Given the description of an element on the screen output the (x, y) to click on. 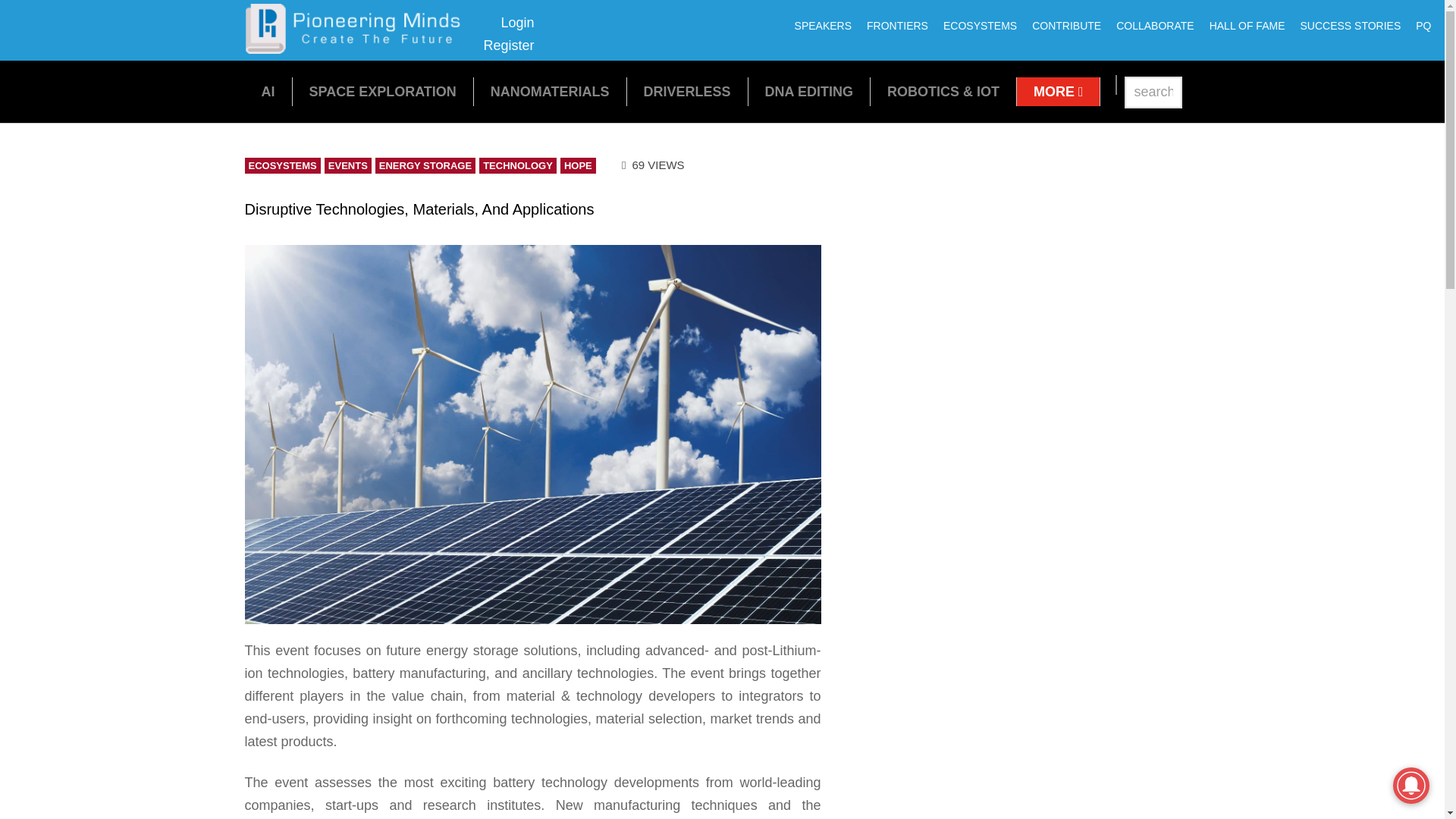
ECOSYSTEMS (980, 26)
CONTRIBUTE (1066, 26)
Pioneering Minds (508, 34)
DRIVERLESS (357, 48)
HALL OF FAME (686, 91)
DNA EDITING (1247, 26)
AI (809, 91)
SPEAKERS (267, 91)
SPACE EXPLORATION (823, 26)
FRONTIERS (382, 91)
SUCCESS STORIES (897, 26)
MORE (1349, 26)
PQ (1058, 91)
NANOMATERIALS (1422, 26)
